Given the description of an element on the screen output the (x, y) to click on. 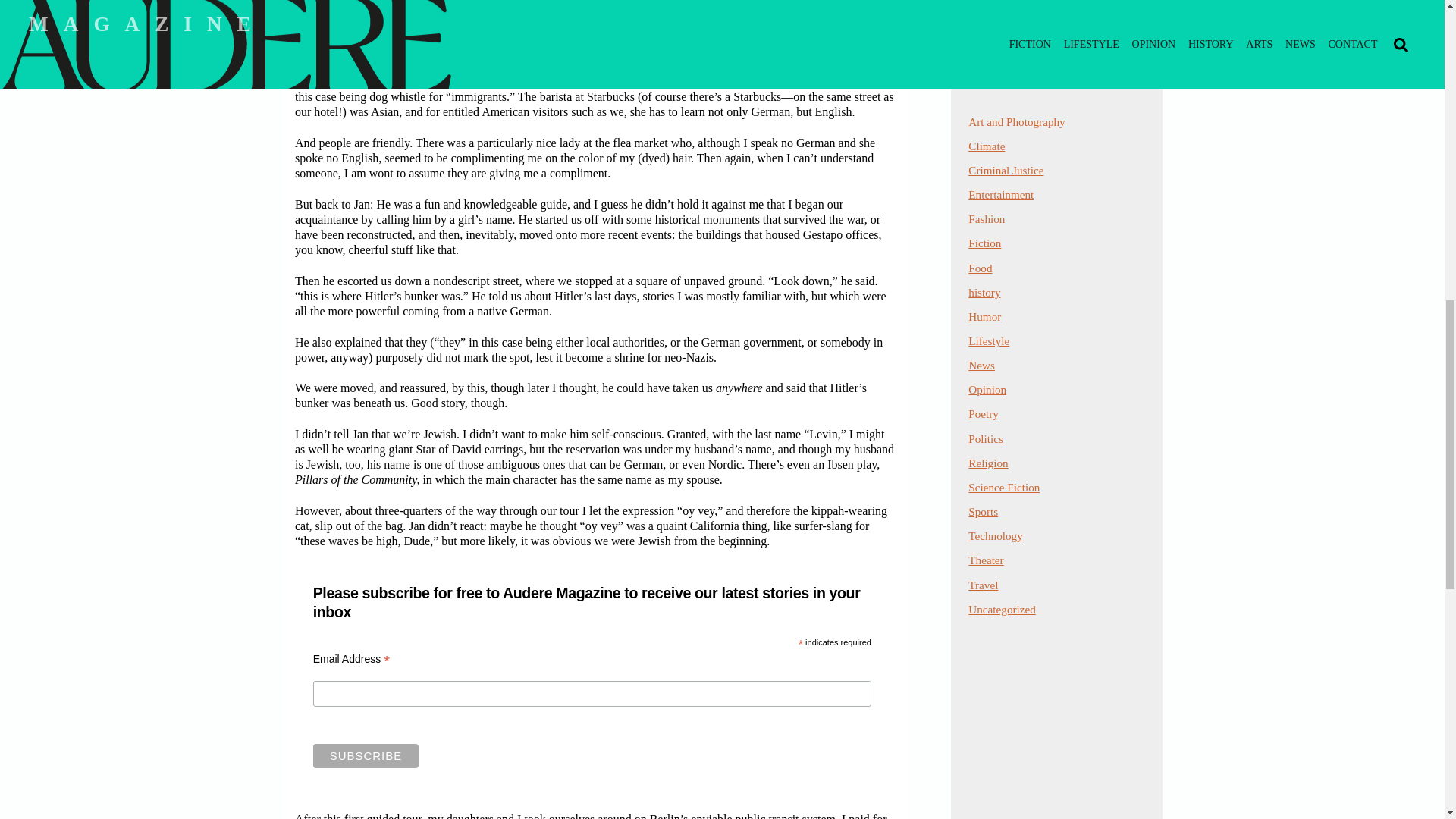
Subscribe (366, 755)
Subscribe (366, 755)
Fashion (986, 218)
Art and Photography (1016, 121)
Climate (986, 145)
Criminal Justice (1005, 169)
Entertainment (1000, 194)
Fiction (984, 242)
The bubbly chemistry behind carbonated beverages (1035, 61)
Food (979, 267)
